Given the description of an element on the screen output the (x, y) to click on. 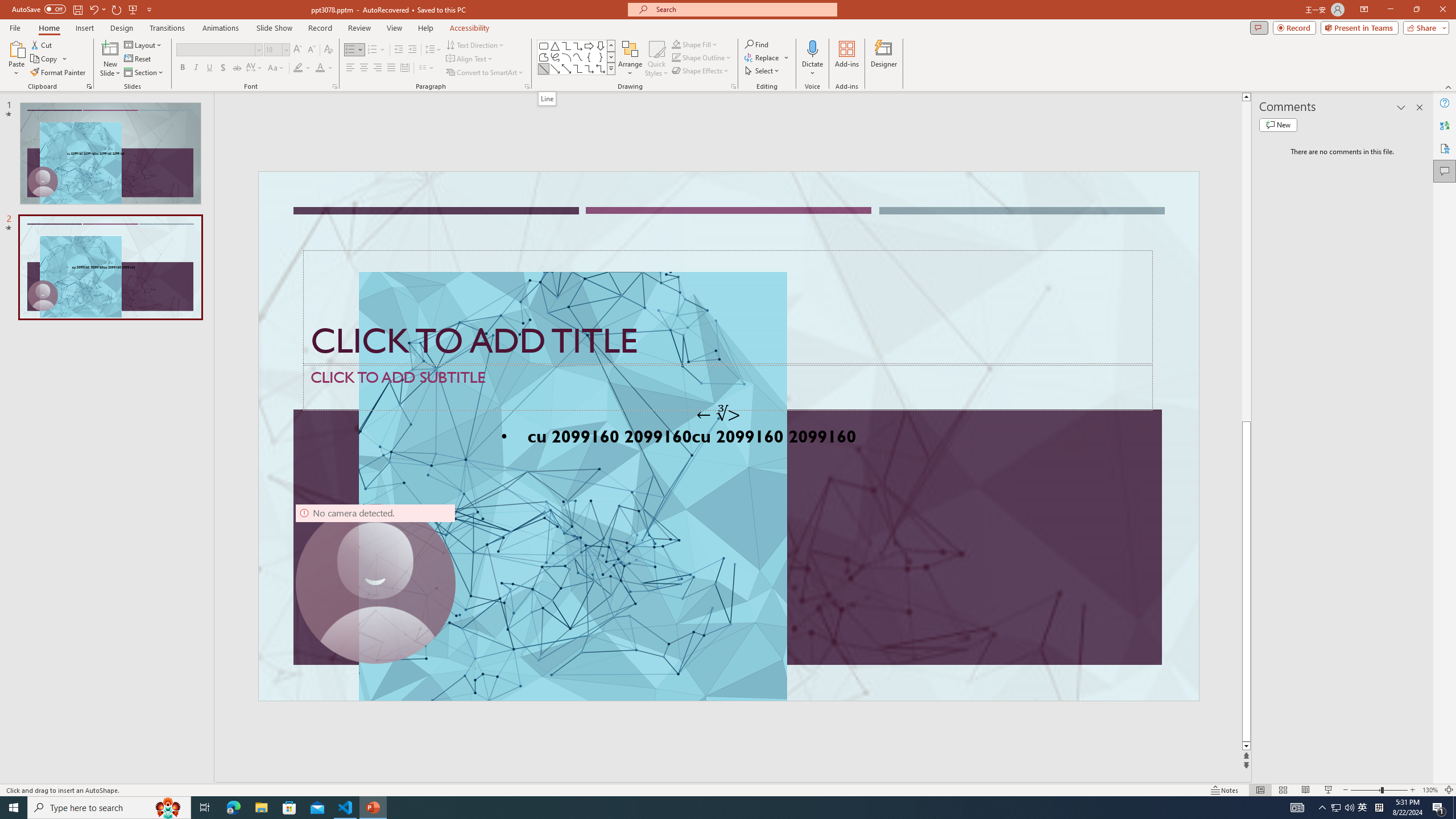
Class: actions-container (400, 387)
Explorer Section: wangyian (188, 209)
Close (Ctrl+F4) (675, 183)
sample_500k.py (352, 183)
main.py (751, 183)
